Given the description of an element on the screen output the (x, y) to click on. 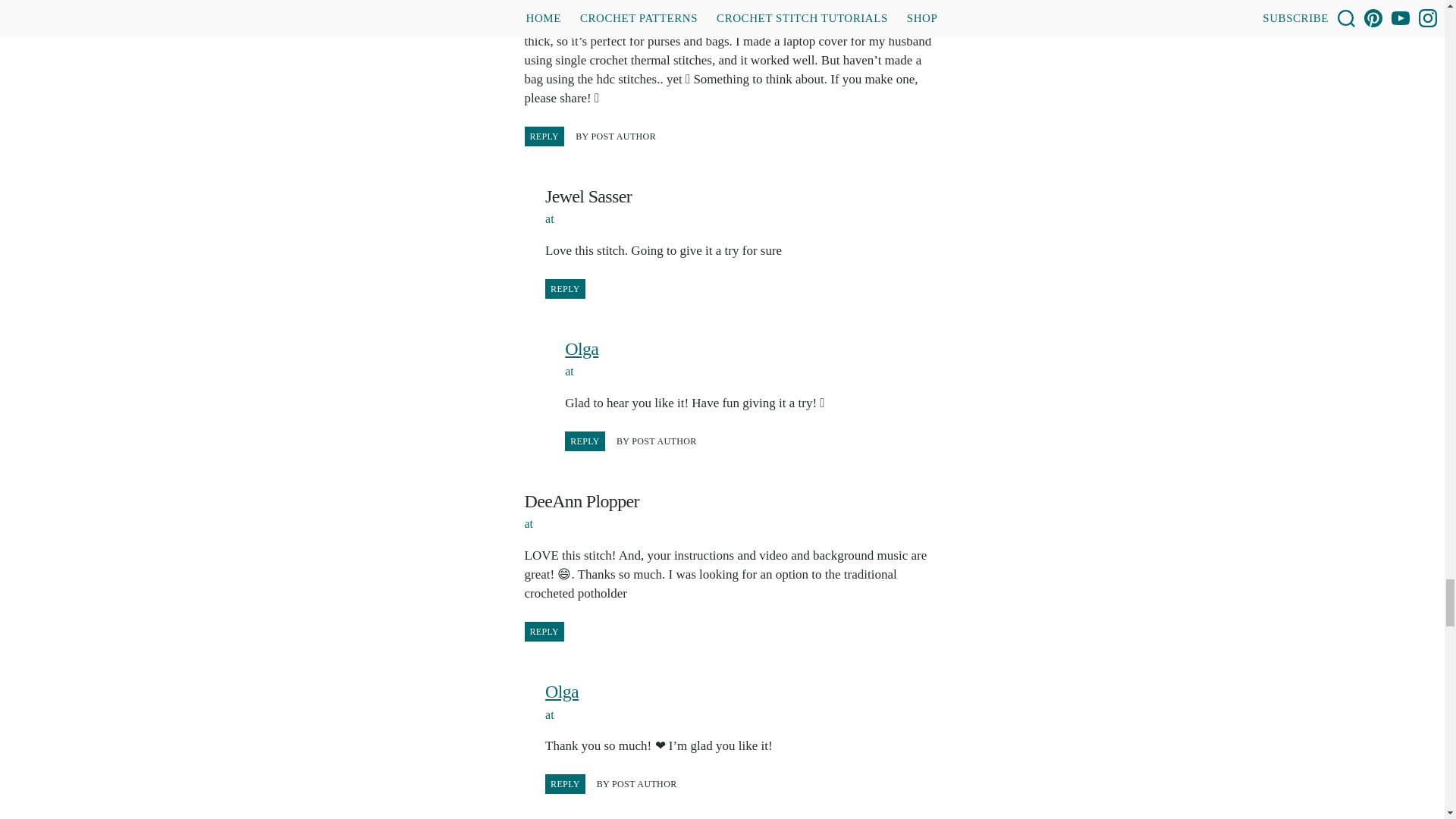
REPLY (544, 136)
REPLY (544, 631)
REPLY (584, 441)
REPLY (564, 288)
REPLY (564, 783)
